Given the description of an element on the screen output the (x, y) to click on. 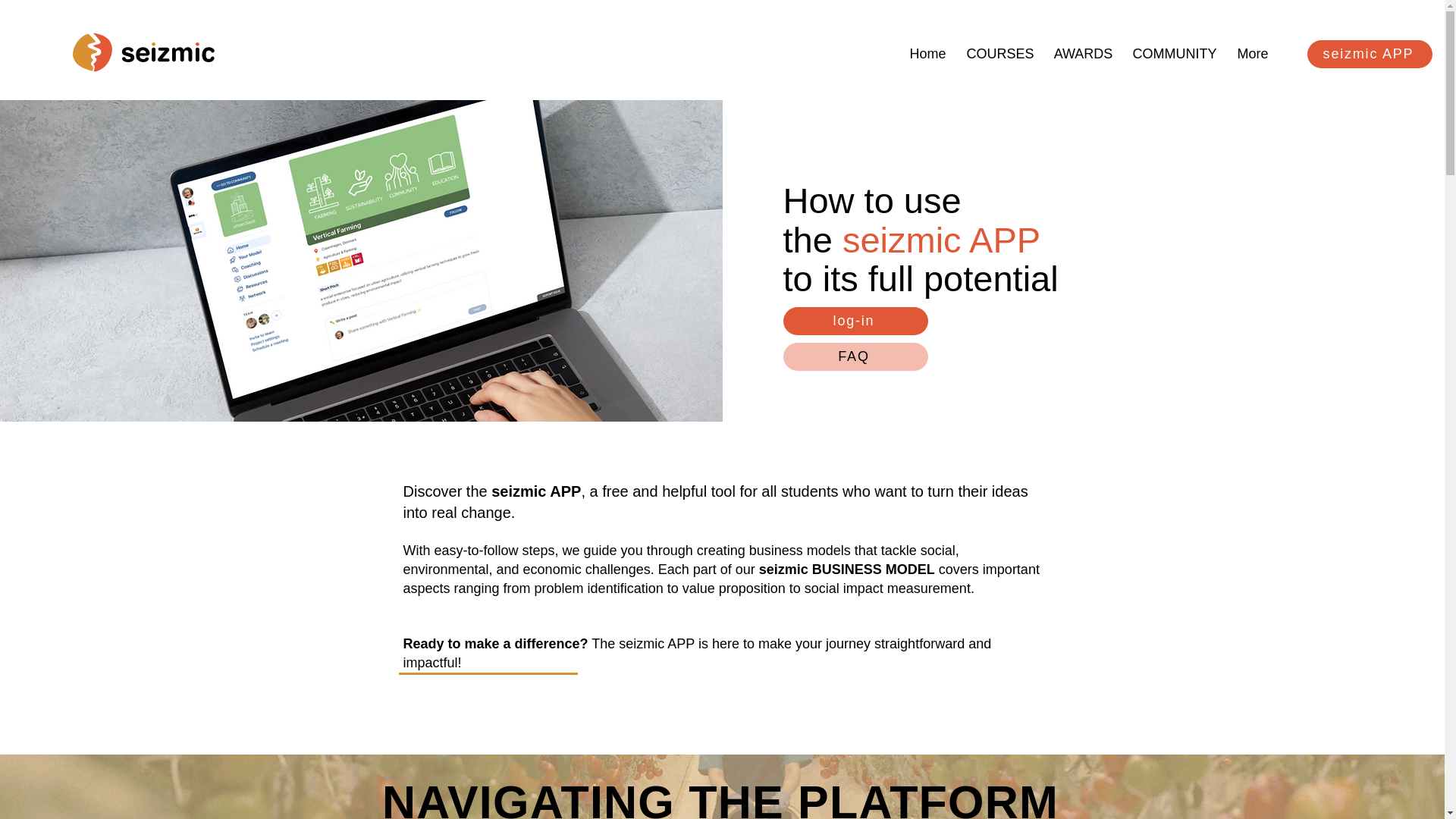
FAQ (855, 357)
Home (927, 47)
potential (990, 278)
AWARDS (1082, 47)
seizmic APP (1369, 53)
COMMUNITY (1173, 47)
log-in (855, 320)
COURSES (999, 47)
